Given the description of an element on the screen output the (x, y) to click on. 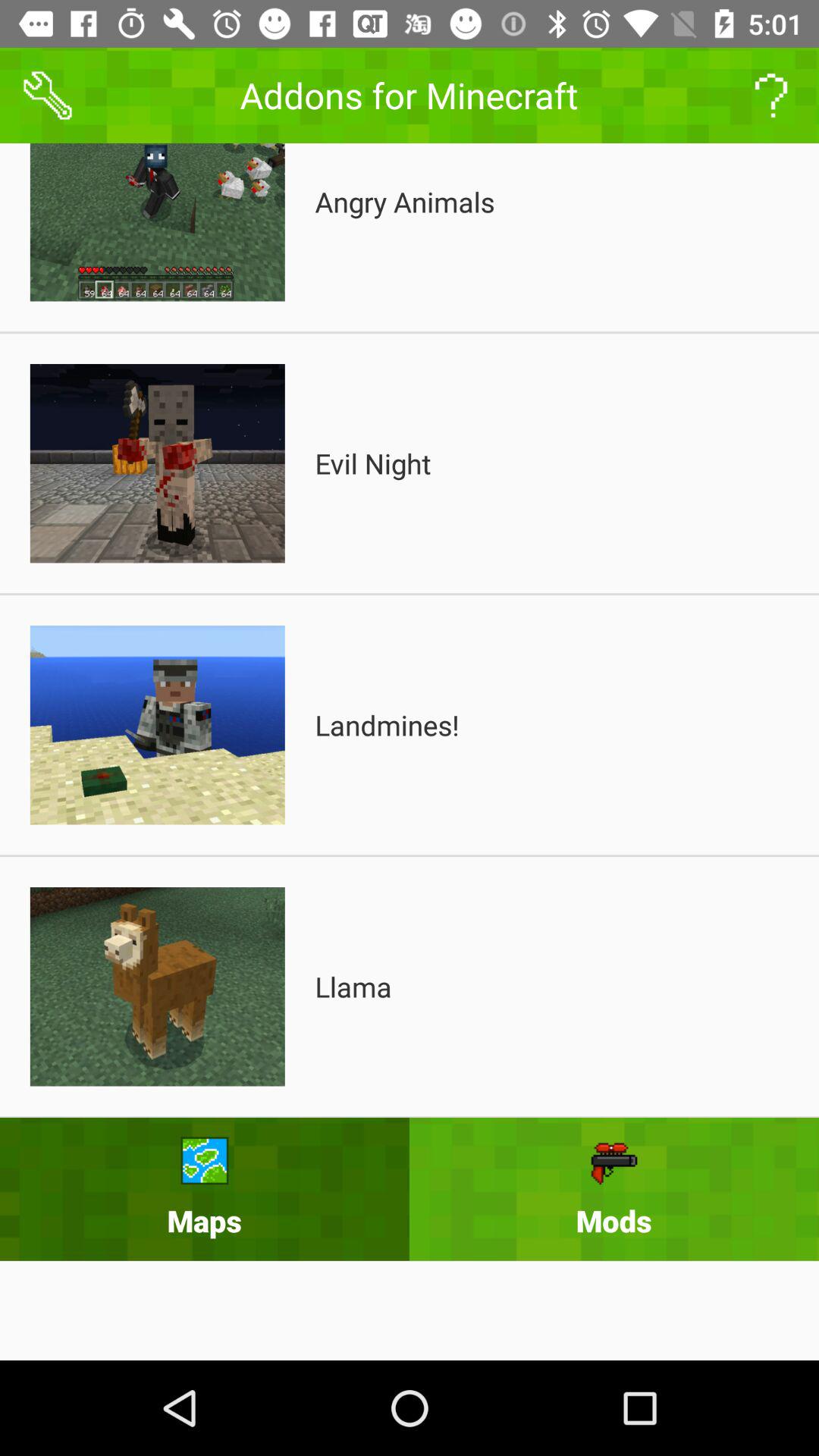
turn on icon below evil night icon (387, 724)
